Given the description of an element on the screen output the (x, y) to click on. 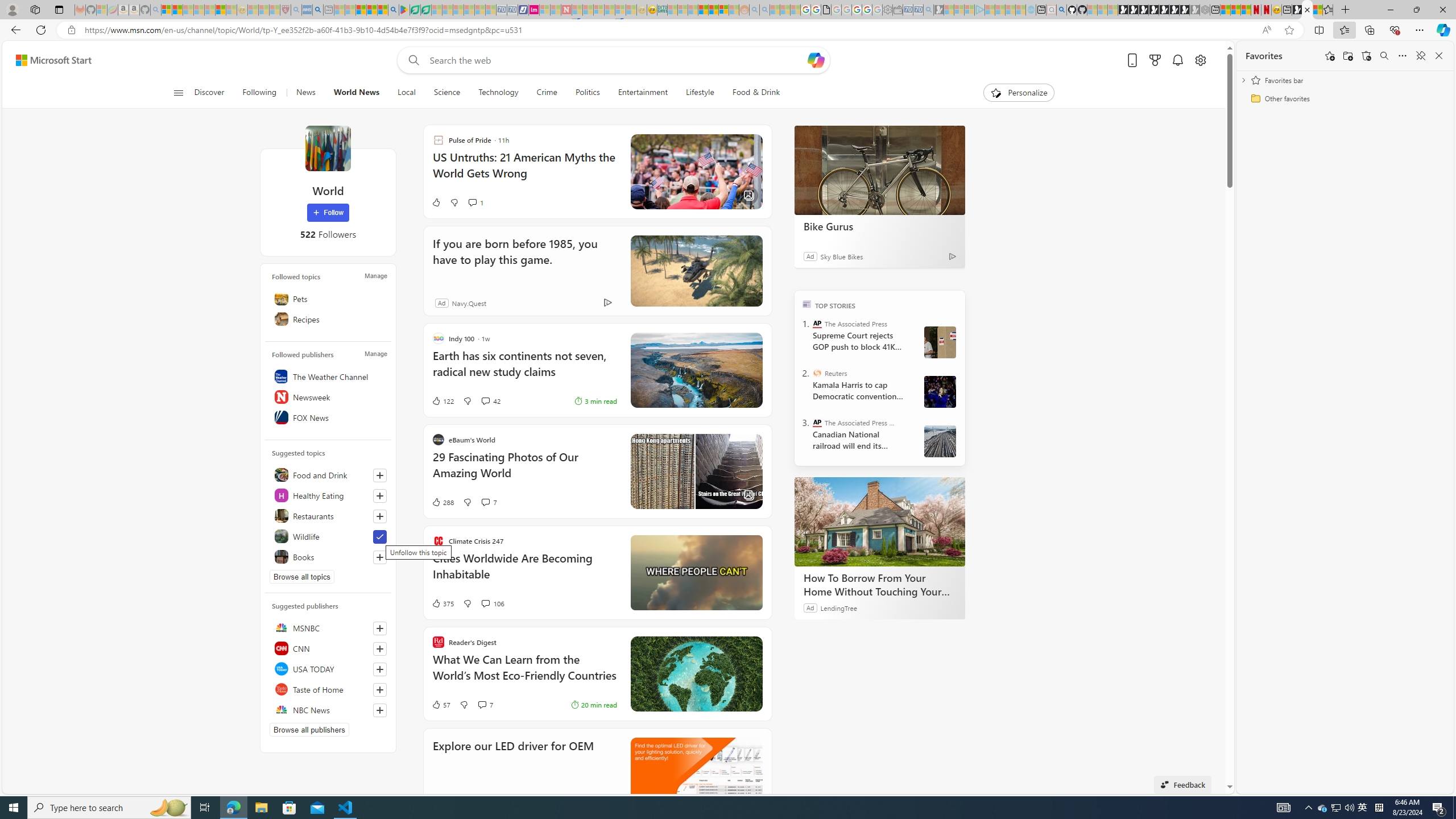
MSNBC (327, 627)
Bike Gurus (879, 226)
Add folder (1347, 55)
Browse all publishers (309, 729)
View comments 42 Comment (485, 400)
122 Like (442, 400)
